Given the description of an element on the screen output the (x, y) to click on. 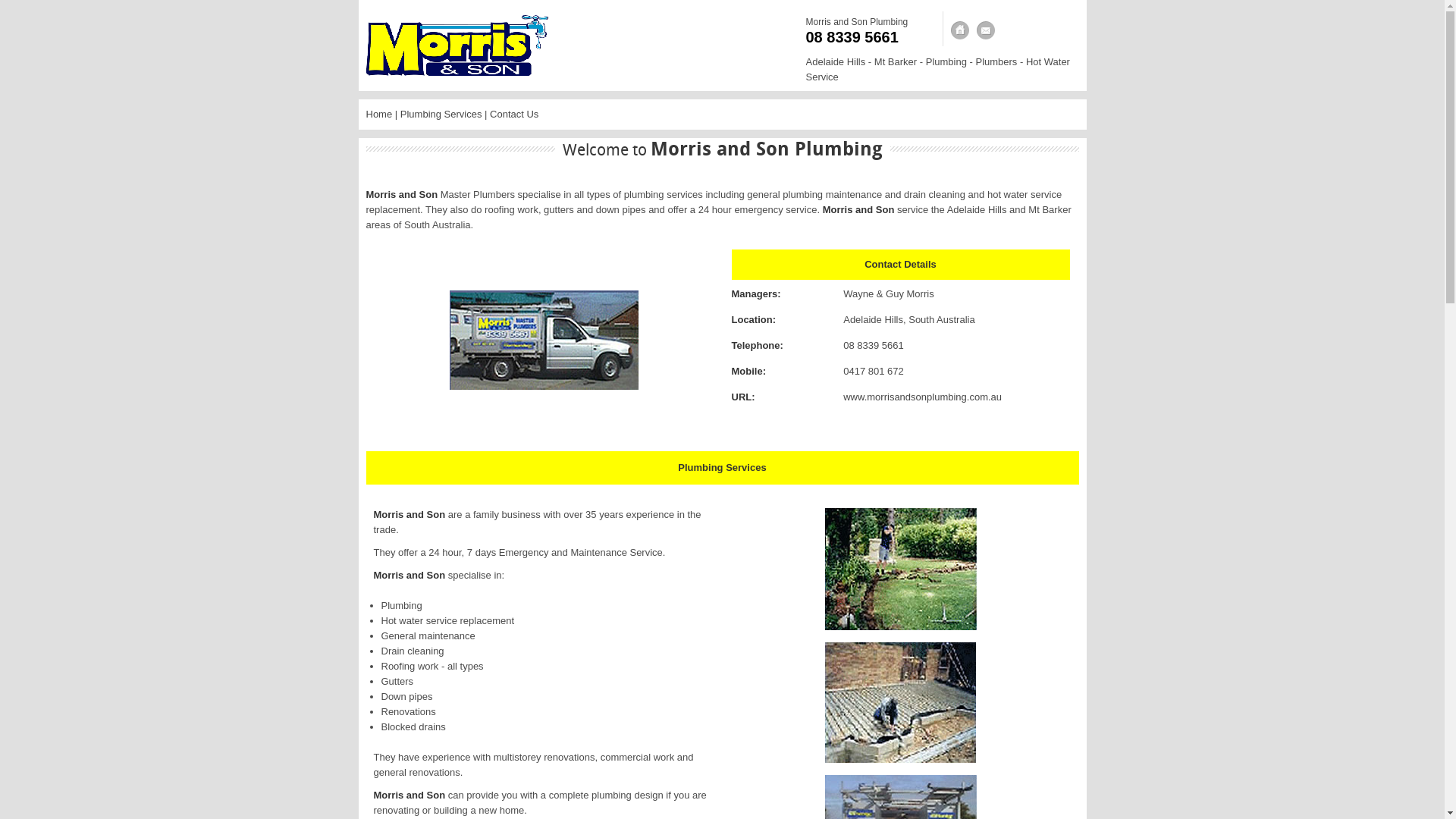
Morris and Son Plumbing Element type: text (856, 21)
Contact Us Element type: hover (985, 30)
Home Element type: text (378, 113)
www.morrisandsonplumbing.com.au Element type: text (922, 396)
Plumbing Services Element type: text (441, 113)
Contact Us Element type: text (513, 113)
Home Element type: hover (959, 30)
